Given the description of an element on the screen output the (x, y) to click on. 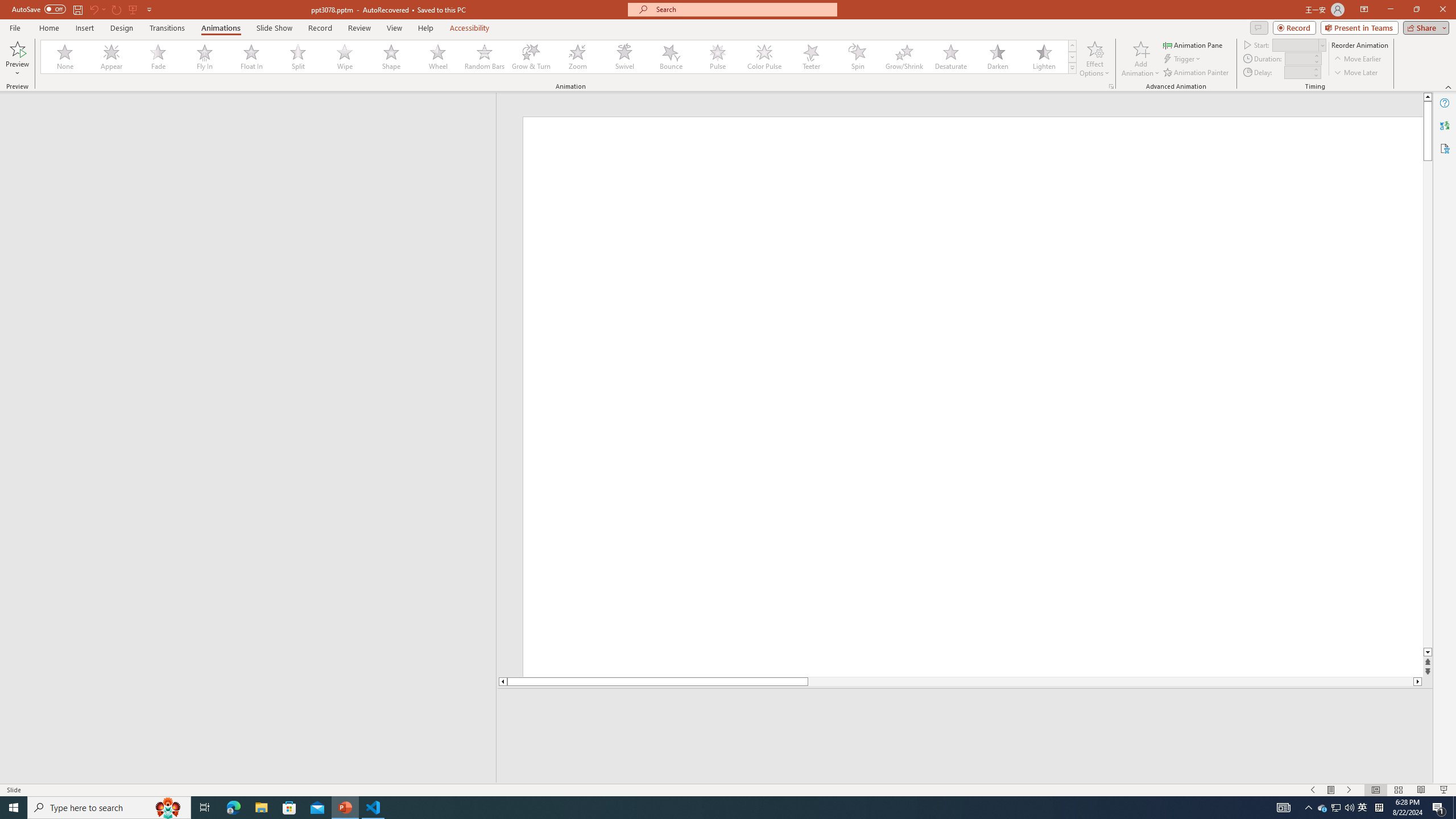
Shape (391, 56)
More (1315, 69)
Fly In (205, 56)
Wipe (344, 56)
Animation Styles (1071, 67)
Float In (251, 56)
Outline (252, 114)
Spin (857, 56)
